Given the description of an element on the screen output the (x, y) to click on. 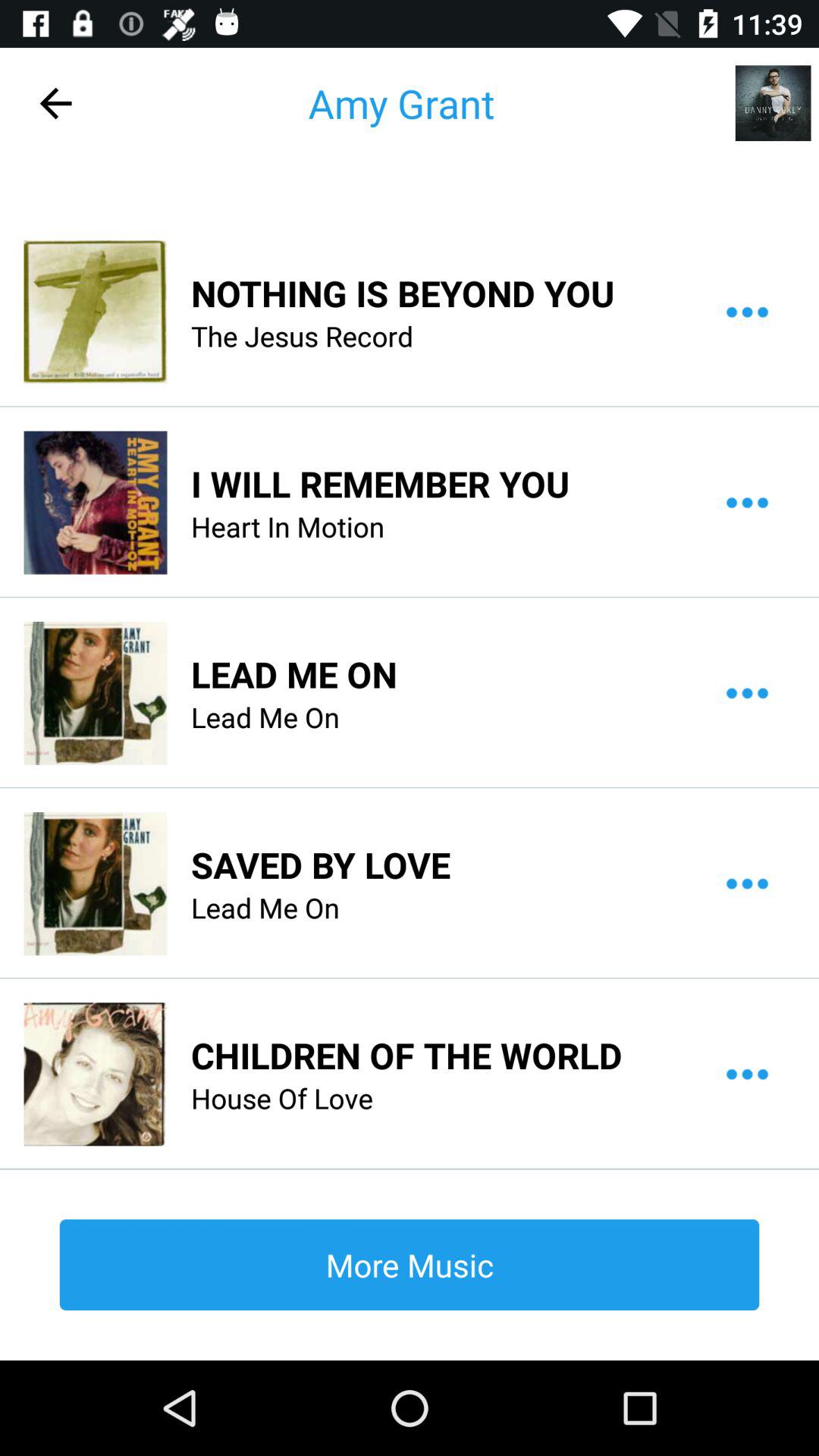
turn on the icon below the lead me on (406, 1055)
